Given the description of an element on the screen output the (x, y) to click on. 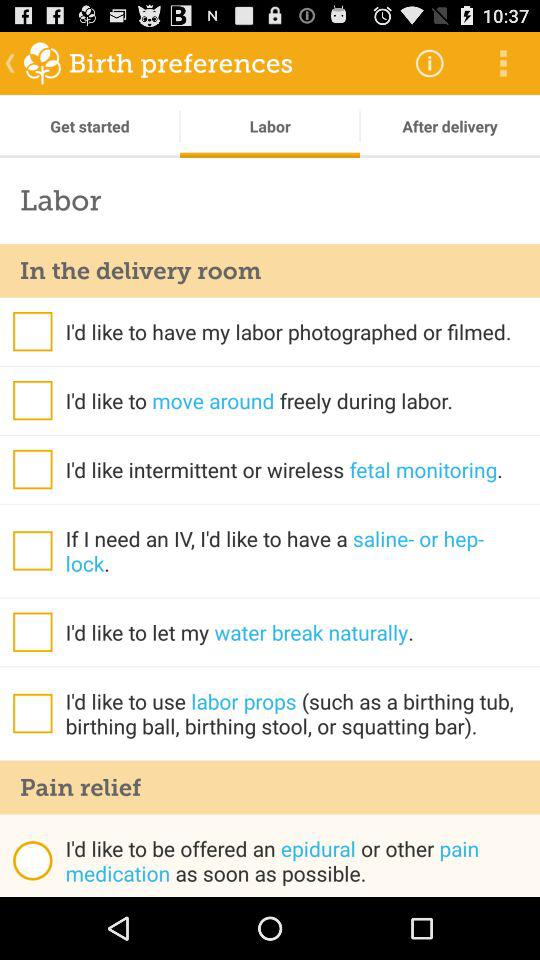
press the get started app (90, 125)
